Given the description of an element on the screen output the (x, y) to click on. 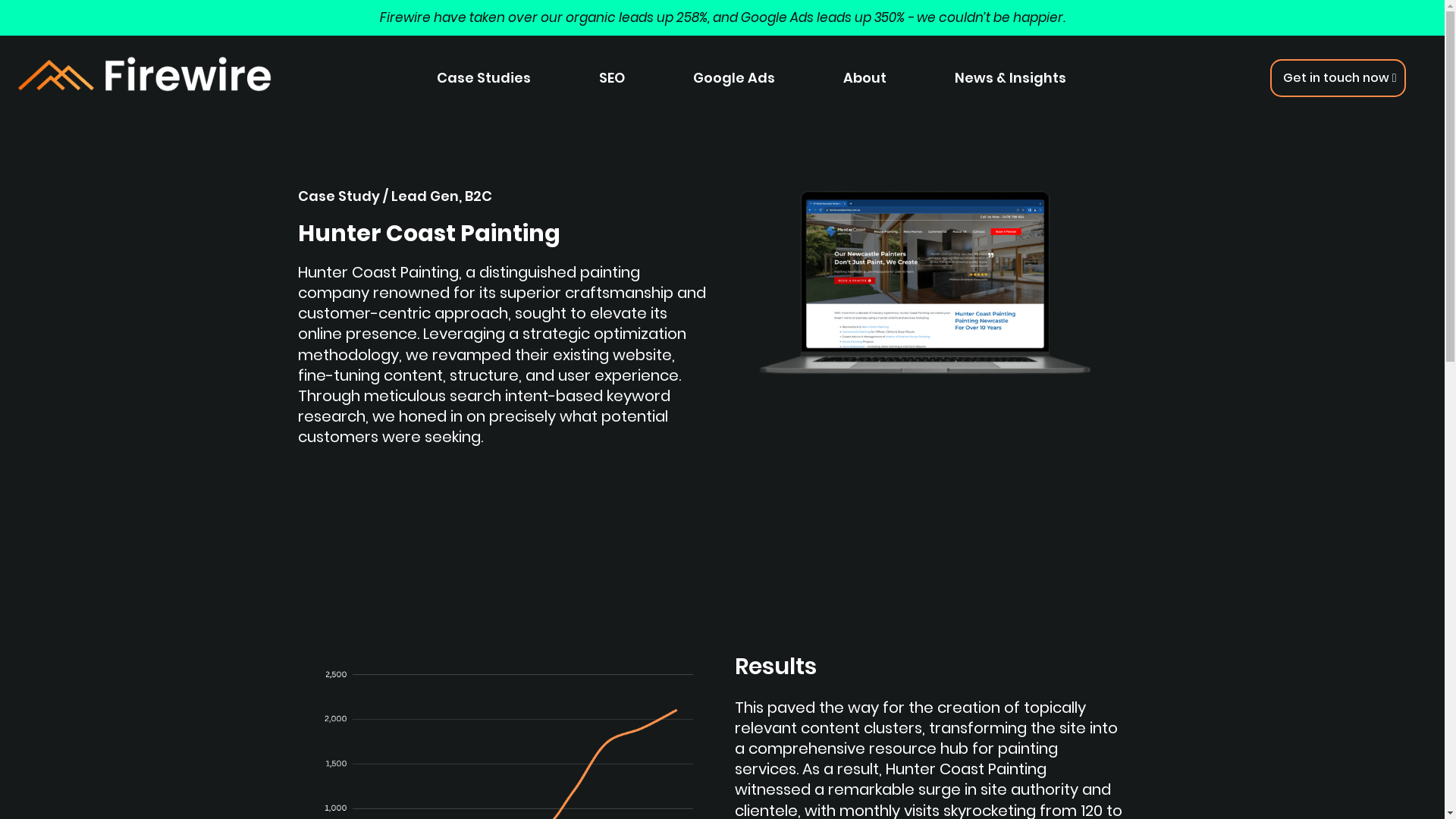
News & Insights Element type: text (1010, 77)
SEO Element type: text (611, 77)
Google Ads Element type: text (733, 77)
Case Studies Element type: text (483, 77)
About Element type: text (864, 77)
